Given the description of an element on the screen output the (x, y) to click on. 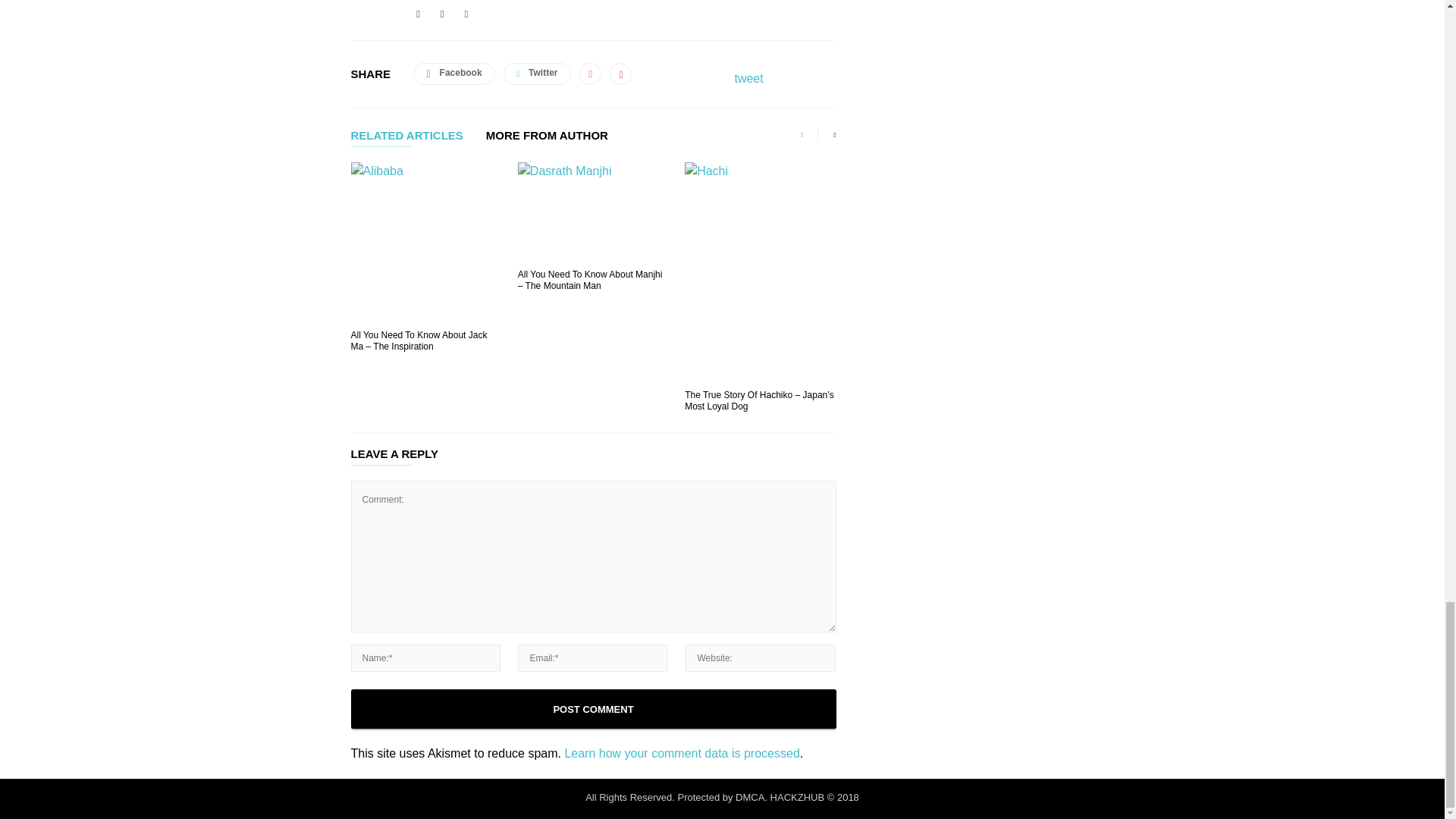
Facebook (418, 13)
Post Comment (592, 708)
Twitter (466, 13)
